Given the description of an element on the screen output the (x, y) to click on. 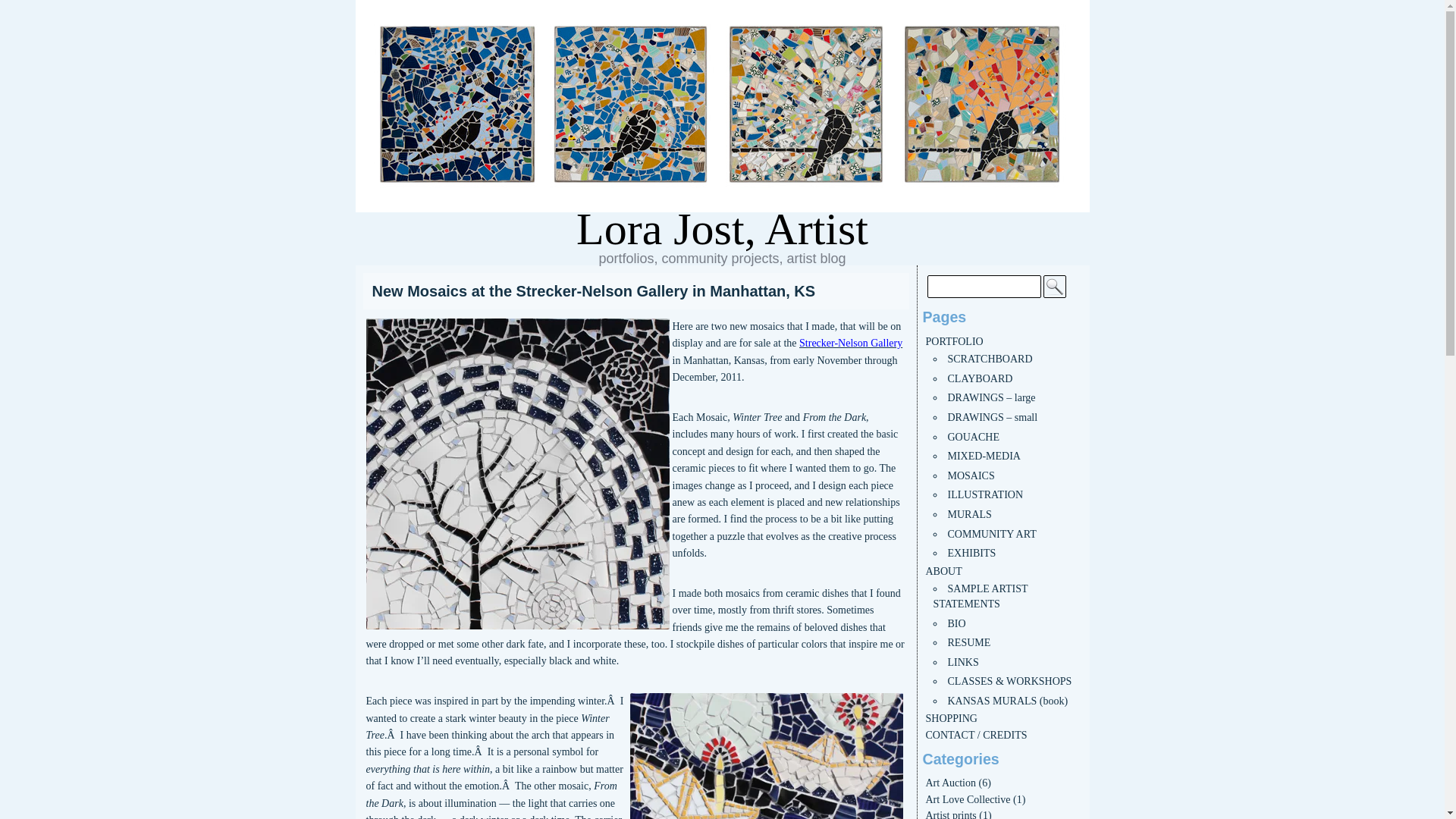
Lora Jost, Artist (722, 228)
Strecker-Nelson Gallery (850, 342)
Search (1054, 286)
SCRATCHBOARD (989, 358)
PORTFOLIO (953, 341)
New Mosaics at the Strecker-Nelson Gallery in Manhattan, KS (635, 290)
Search (1054, 286)
CLAYBOARD (980, 378)
